Given the description of an element on the screen output the (x, y) to click on. 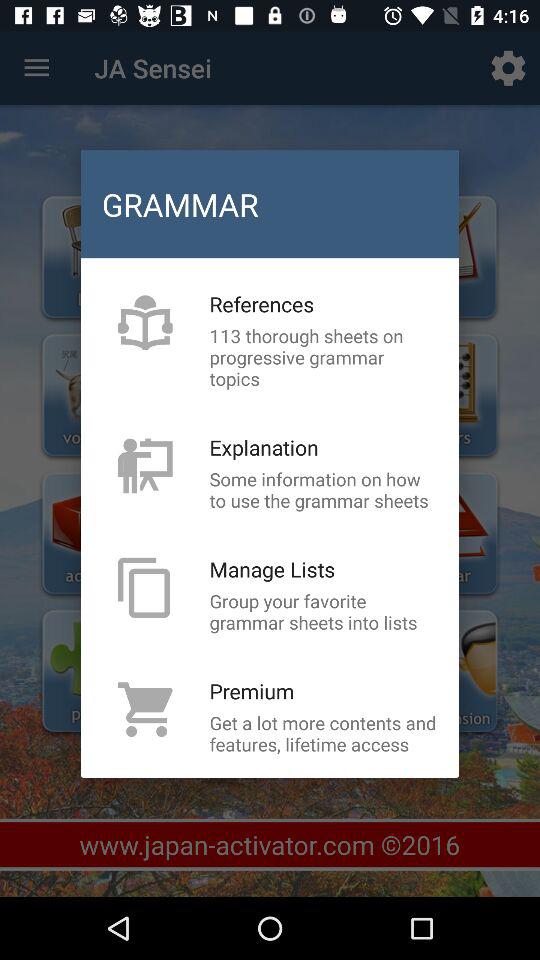
choose the item below the explanation item (323, 489)
